Given the description of an element on the screen output the (x, y) to click on. 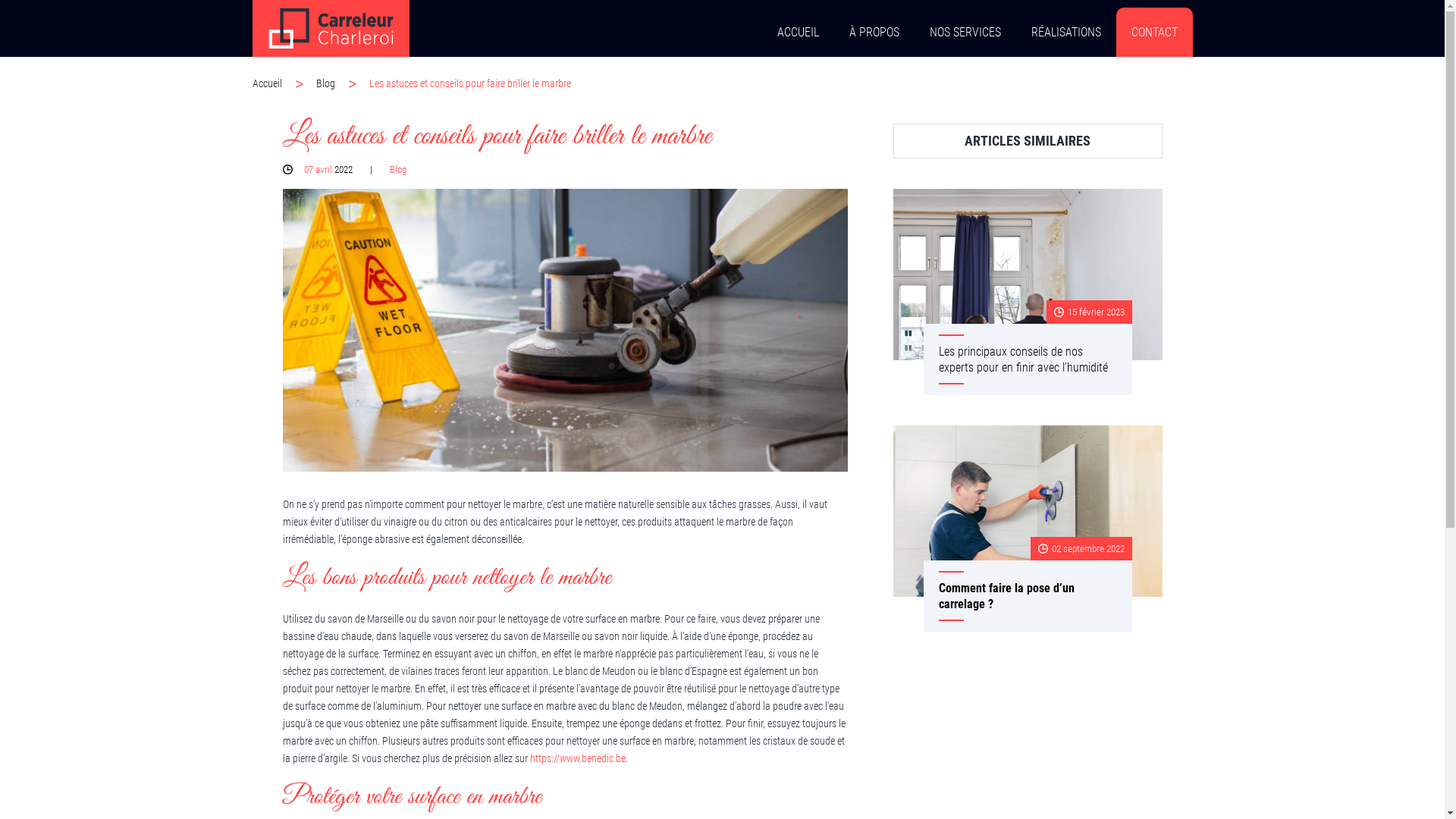
NOS SERVICES Element type: text (965, 31)
https://www.benedic.be Element type: text (576, 758)
Carreleur charleroi Element type: hover (329, 28)
Blog Element type: text (341, 83)
ACCUEIL Element type: text (797, 31)
Accueil Element type: text (283, 83)
CONTACT Element type: text (1154, 31)
Blog Element type: text (397, 169)
